Given the description of an element on the screen output the (x, y) to click on. 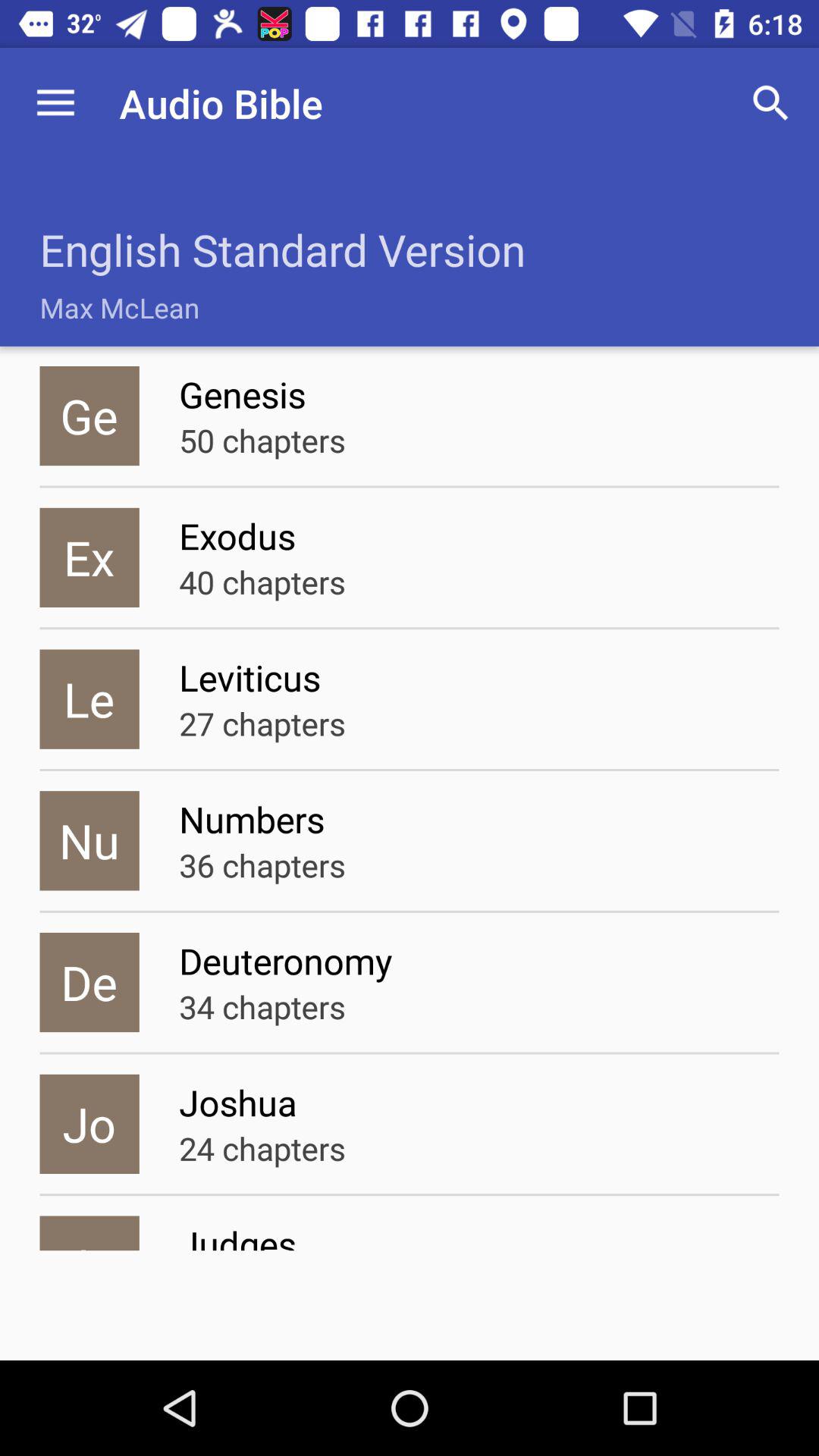
tap the item next to deuteronomy item (89, 982)
